Given the description of an element on the screen output the (x, y) to click on. 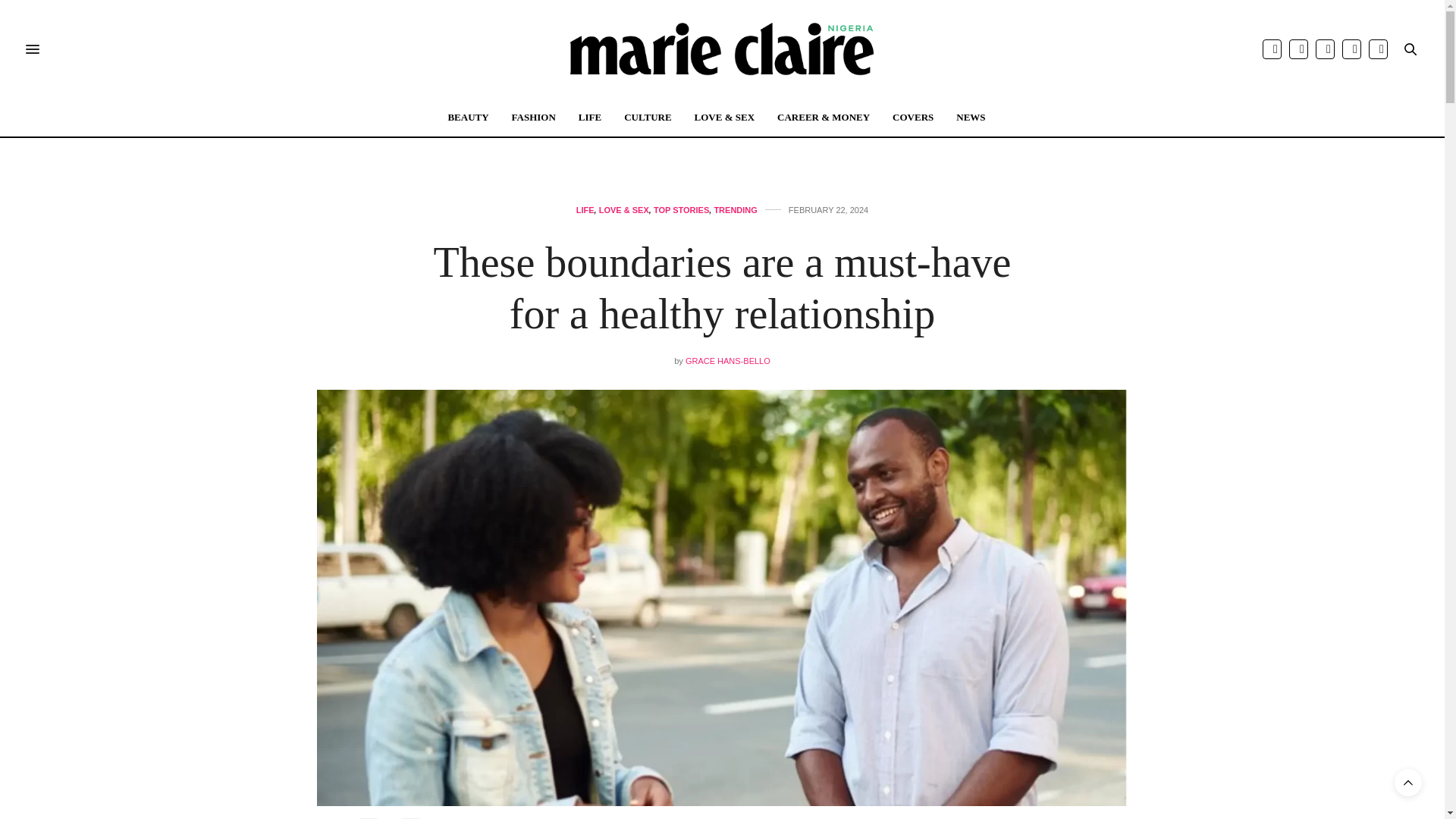
Marie Claire Nigeria (721, 49)
Posts by Grace Hans-Bello (727, 360)
TOP STORIES (681, 210)
GRACE HANS-BELLO (727, 360)
TRENDING (735, 210)
BEAUTY (466, 117)
LIFE (585, 210)
COVERS (912, 117)
CULTURE (647, 117)
FASHION (534, 117)
